Given the description of an element on the screen output the (x, y) to click on. 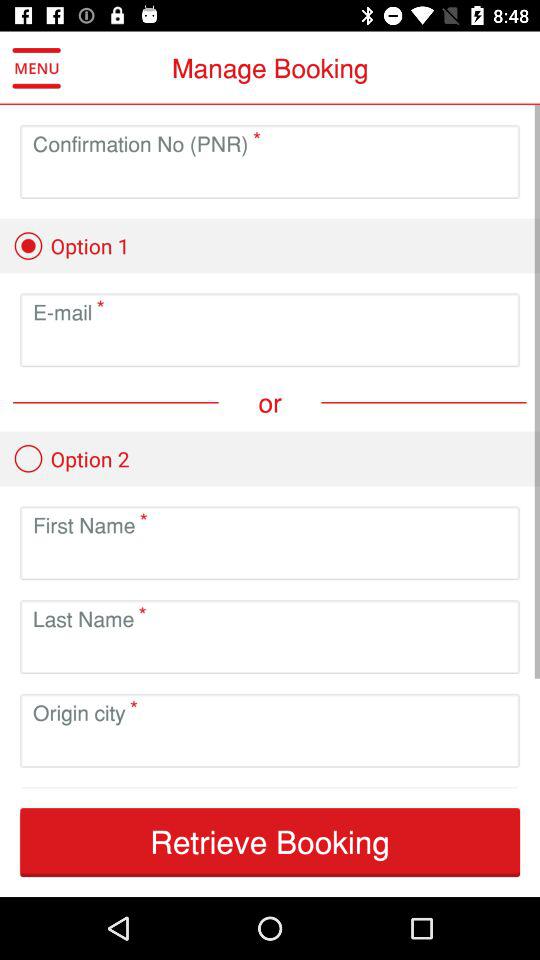
type city of origin (270, 746)
